Given the description of an element on the screen output the (x, y) to click on. 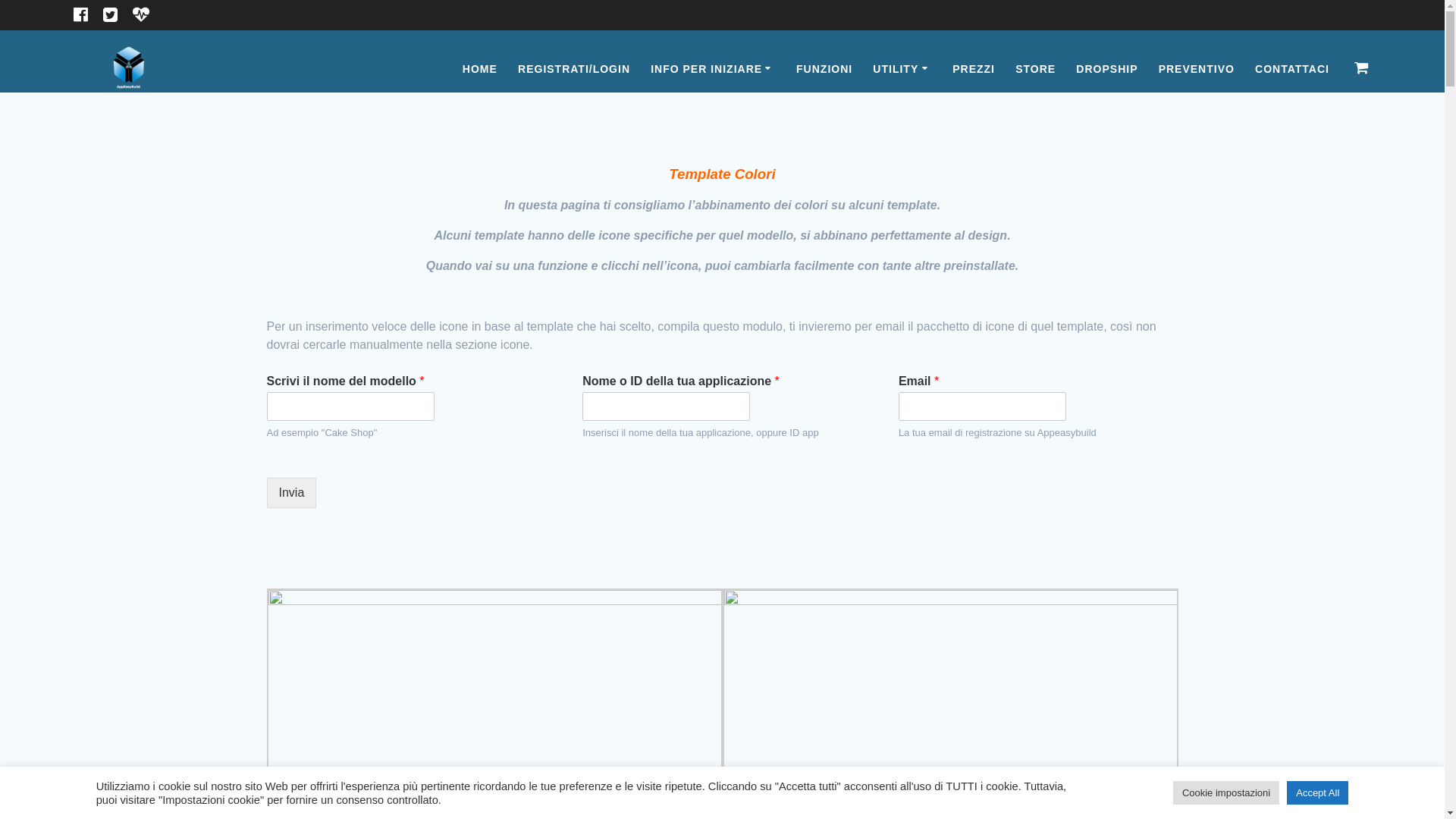
Invia Element type: text (291, 492)
Cookie impostazioni Element type: text (1226, 792)
STORE Element type: text (1035, 68)
INFO PER INIZIARE Element type: text (712, 68)
REGISTRATI/LOGIN Element type: text (573, 68)
PREVENTIVO Element type: text (1196, 68)
UTILITY Element type: text (901, 68)
FUNZIONI Element type: text (824, 68)
HOME Element type: text (479, 68)
DROPSHIP Element type: text (1106, 68)
CONTATTACI Element type: text (1292, 68)
PREZZI Element type: text (973, 68)
Accept All Element type: text (1317, 792)
